Given the description of an element on the screen output the (x, y) to click on. 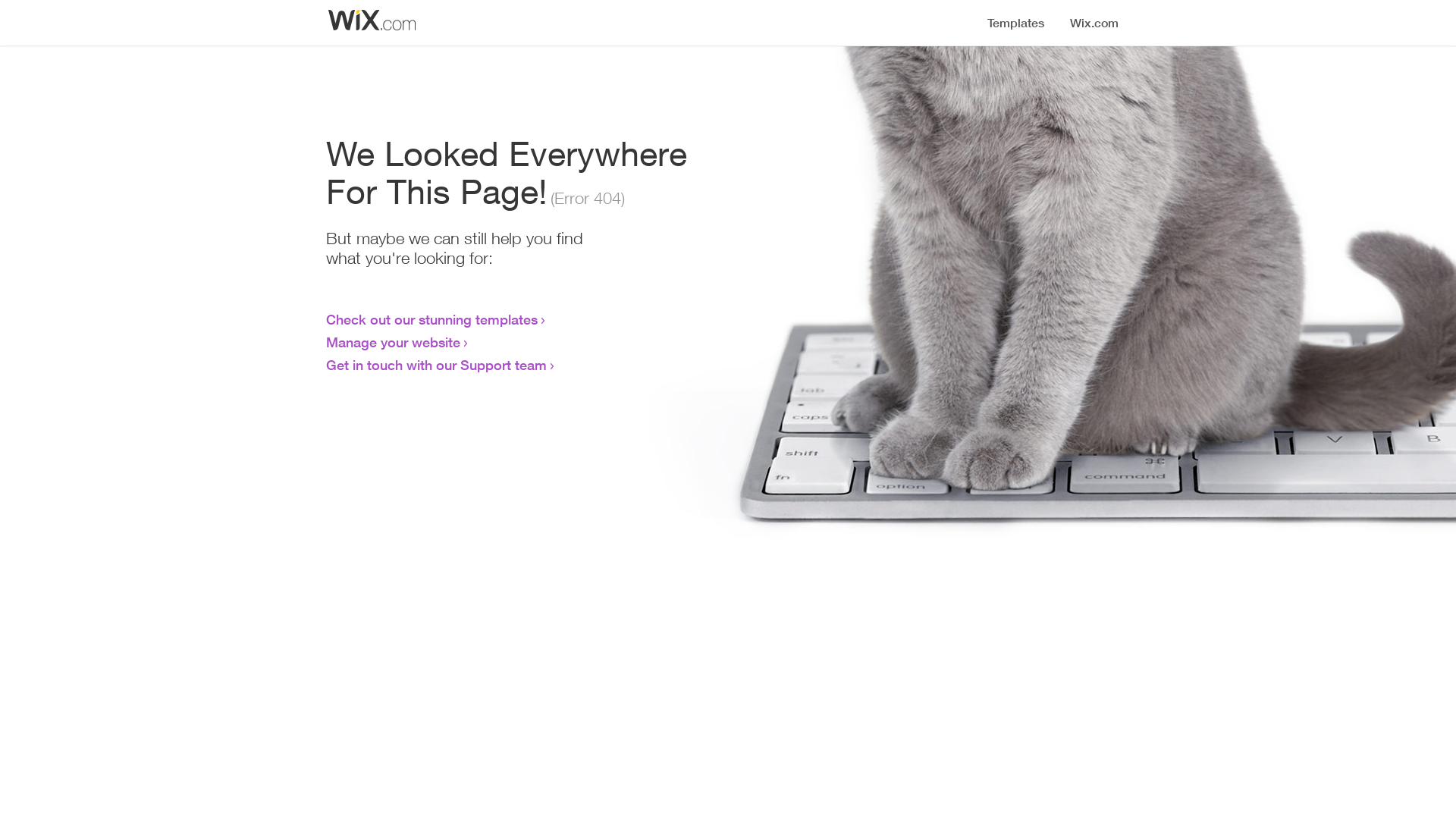
Manage your website Element type: text (393, 341)
Get in touch with our Support team Element type: text (436, 364)
Check out our stunning templates Element type: text (431, 318)
